Given the description of an element on the screen output the (x, y) to click on. 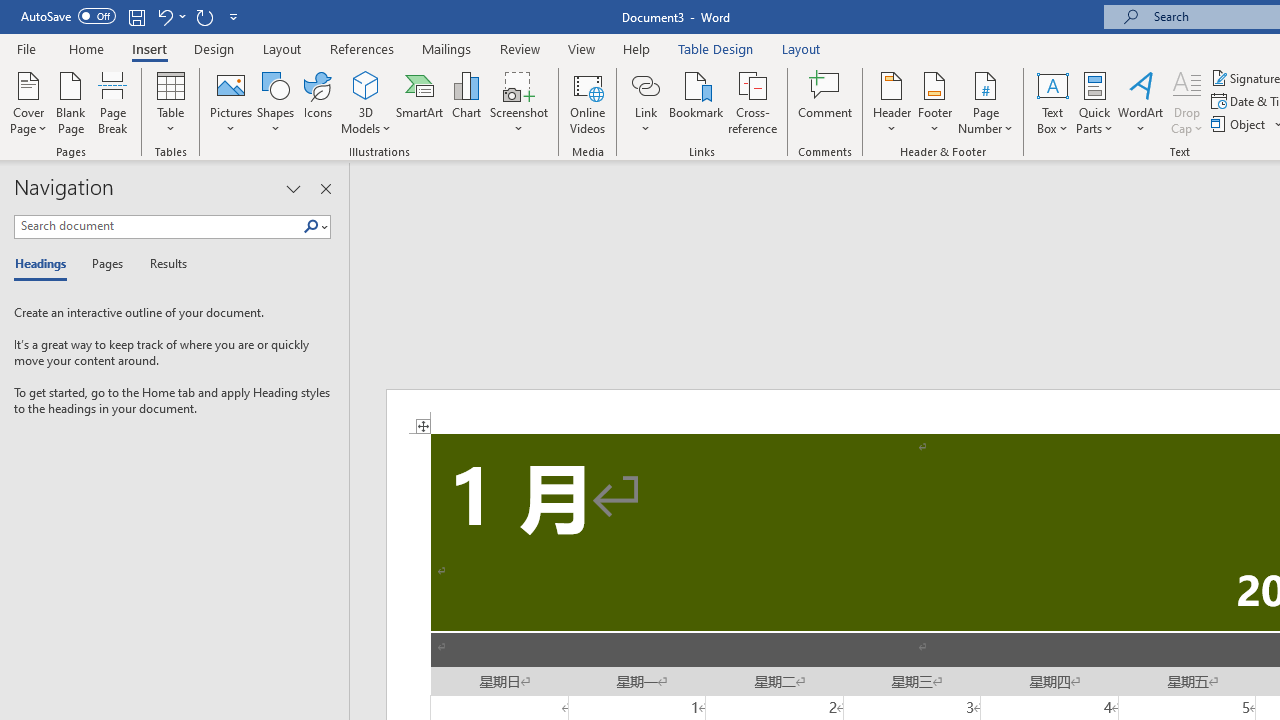
Icons (317, 102)
Pictures (230, 102)
Table Design (715, 48)
Link (645, 84)
Chart... (466, 102)
Text Box (1052, 102)
Results (161, 264)
